Given the description of an element on the screen output the (x, y) to click on. 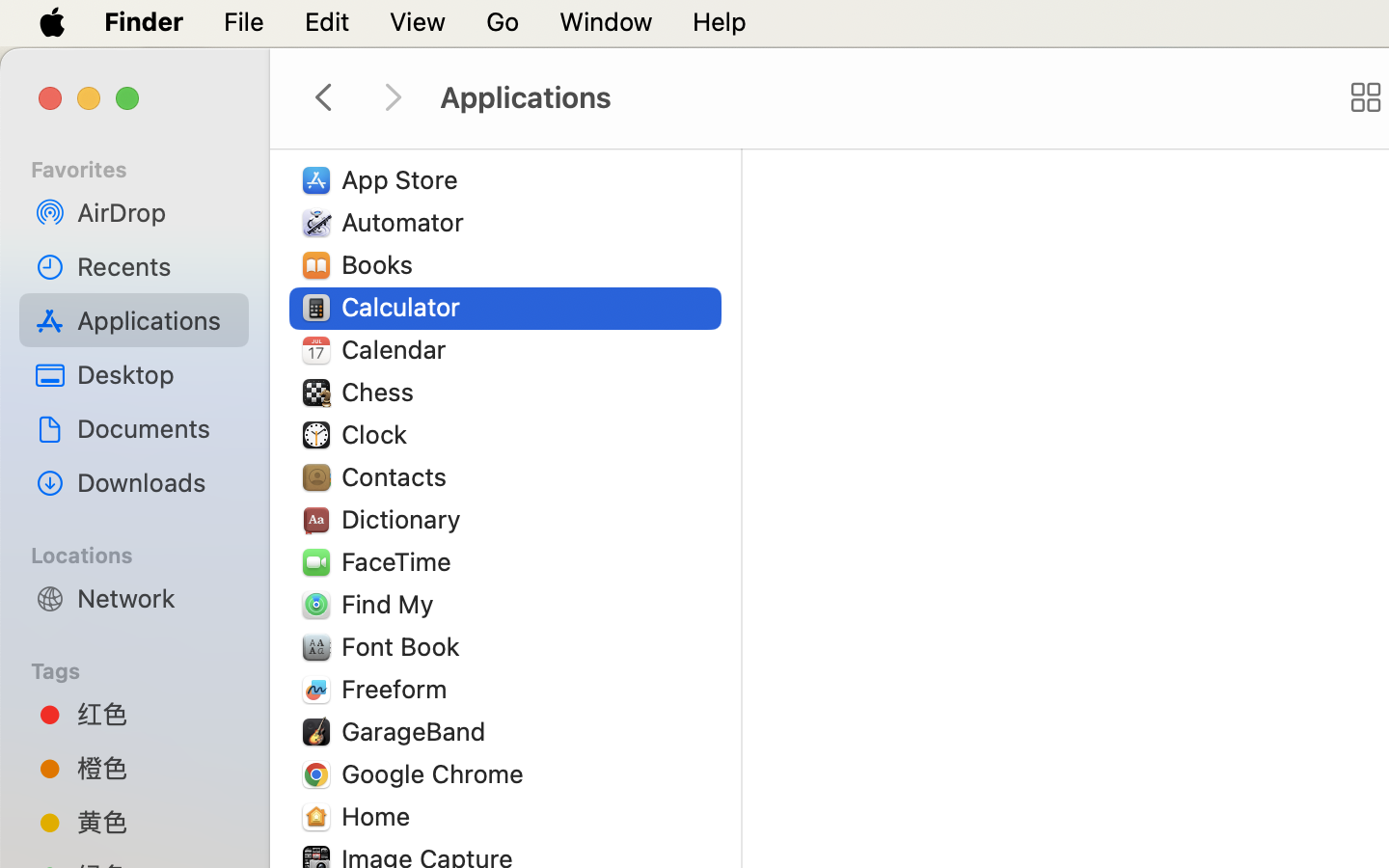
Clock Element type: AXTextField (378, 433)
Favorites Element type: AXStaticText (145, 166)
Font Book Element type: AXTextField (404, 645)
Google Chrome Element type: AXTextField (436, 773)
Locations Element type: AXStaticText (145, 552)
